Given the description of an element on the screen output the (x, y) to click on. 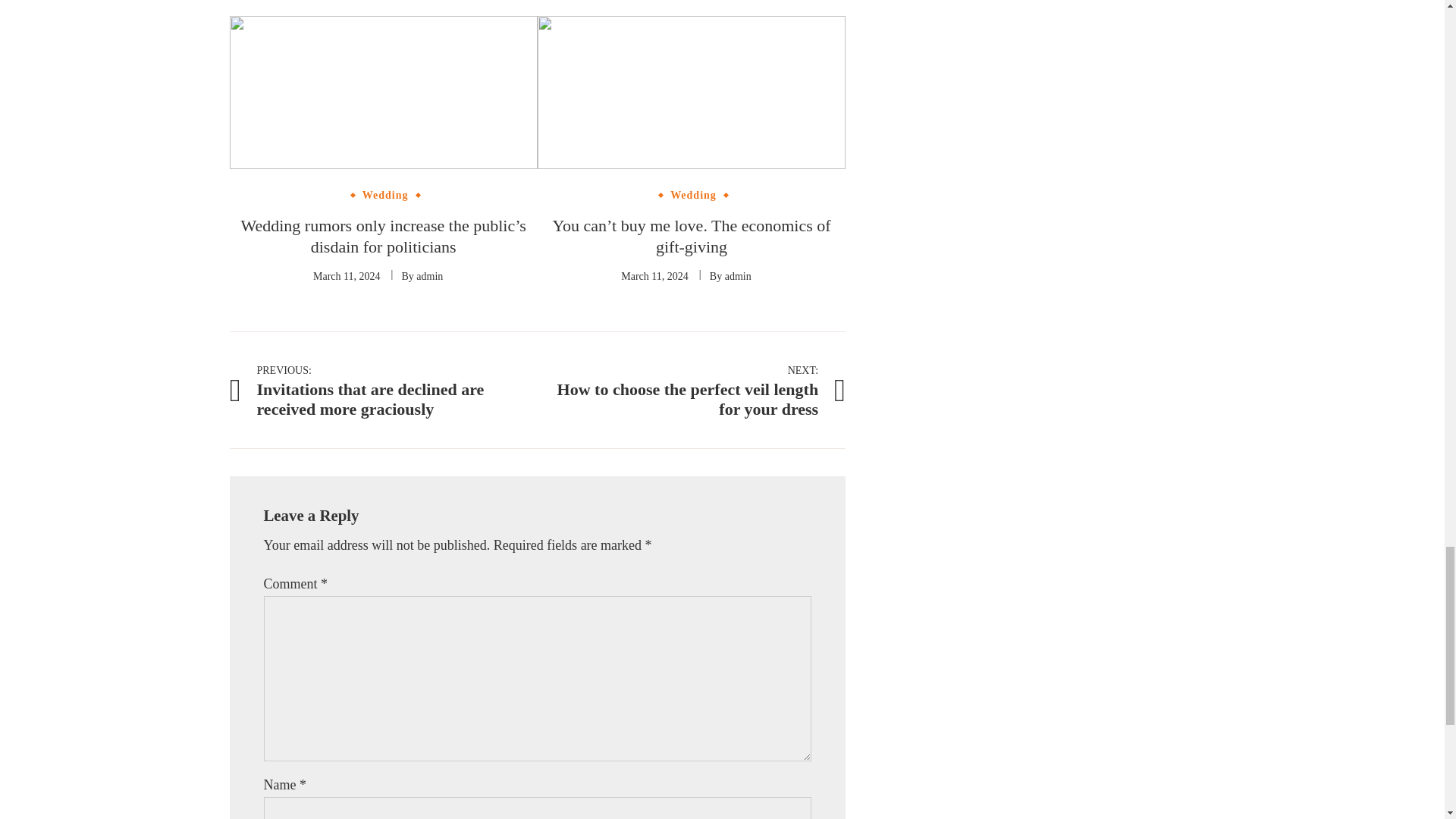
March 11, 2024 (346, 276)
admin (429, 276)
Wedding (693, 195)
Wedding (385, 195)
March 11, 2024 (654, 276)
admin (738, 276)
